Given the description of an element on the screen output the (x, y) to click on. 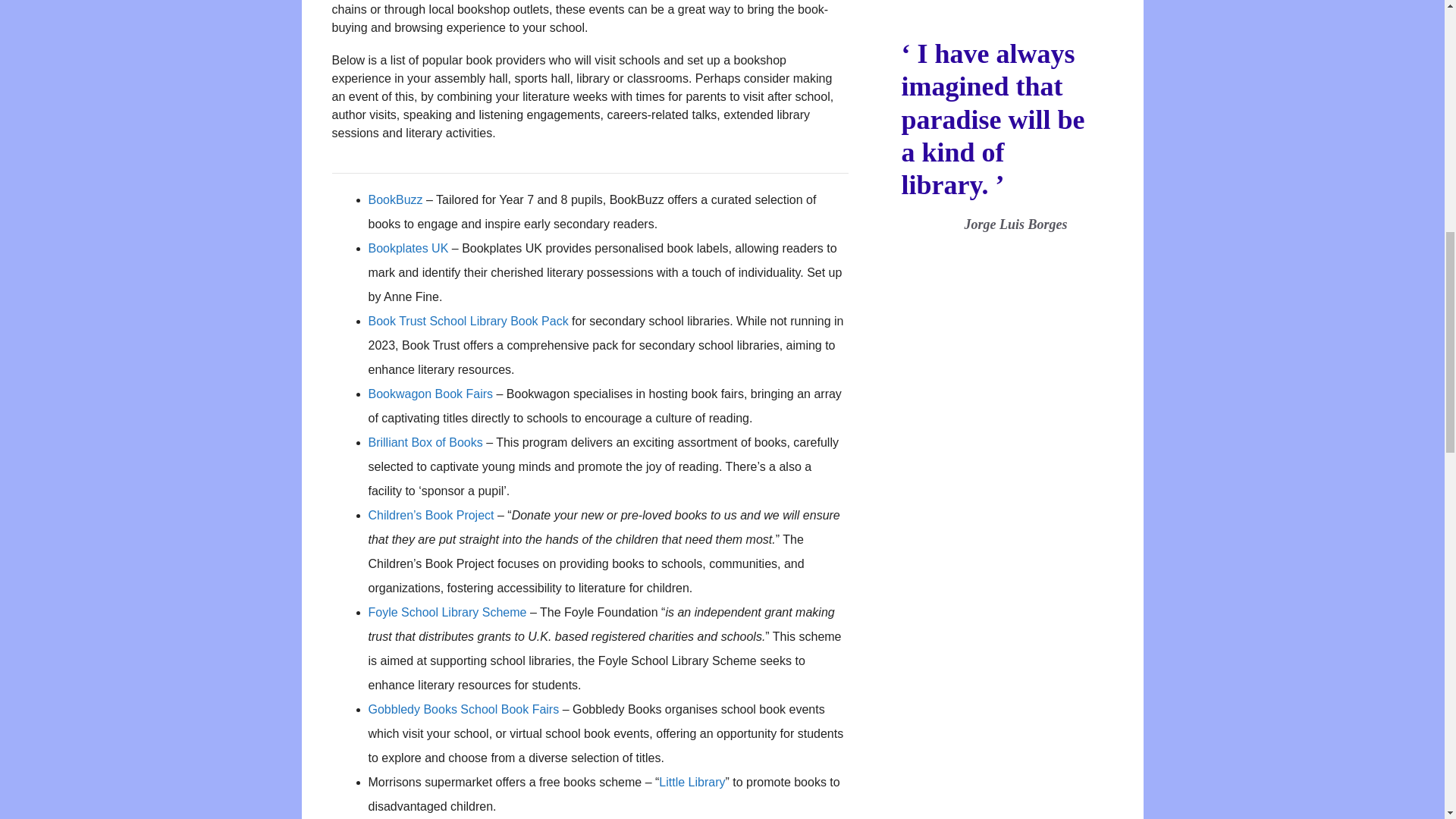
Gobbledy Books School Book Fairs (463, 708)
Brilliant Box of Books (425, 441)
Bookplates UK (408, 247)
Little Library (692, 781)
Foyle School Library Scheme (447, 612)
Scroll back to top (1406, 720)
Book Trust School Library Book Pack (468, 320)
BookBuzz (395, 199)
Bookwagon Book Fairs (430, 393)
